Given the description of an element on the screen output the (x, y) to click on. 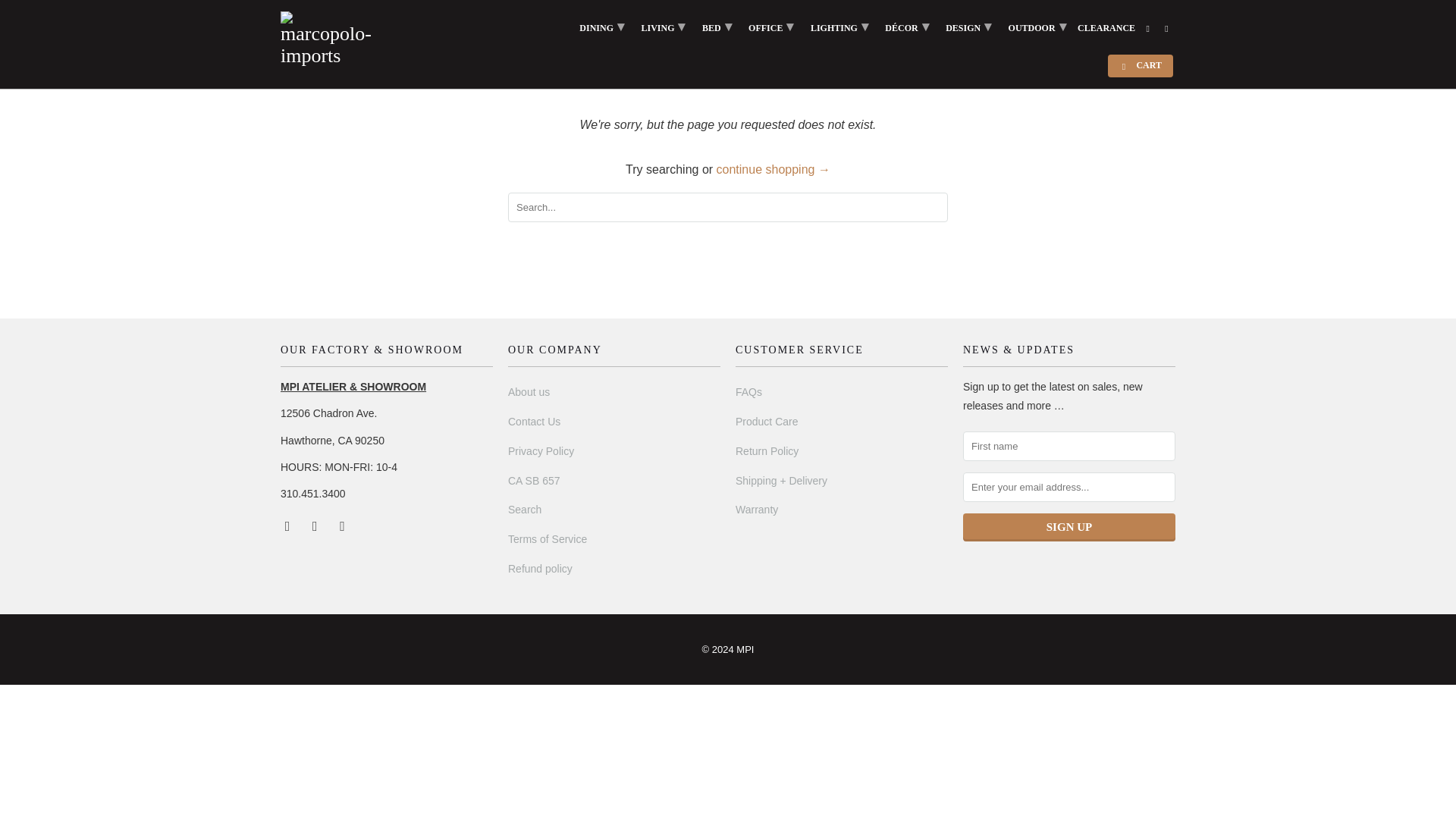
marcopolo-imports on Facebook (289, 525)
marcopolo-imports (328, 39)
marcopolo-imports on Instagram (315, 525)
Email marcopolo-imports (343, 525)
Sign Up (1068, 527)
